Given the description of an element on the screen output the (x, y) to click on. 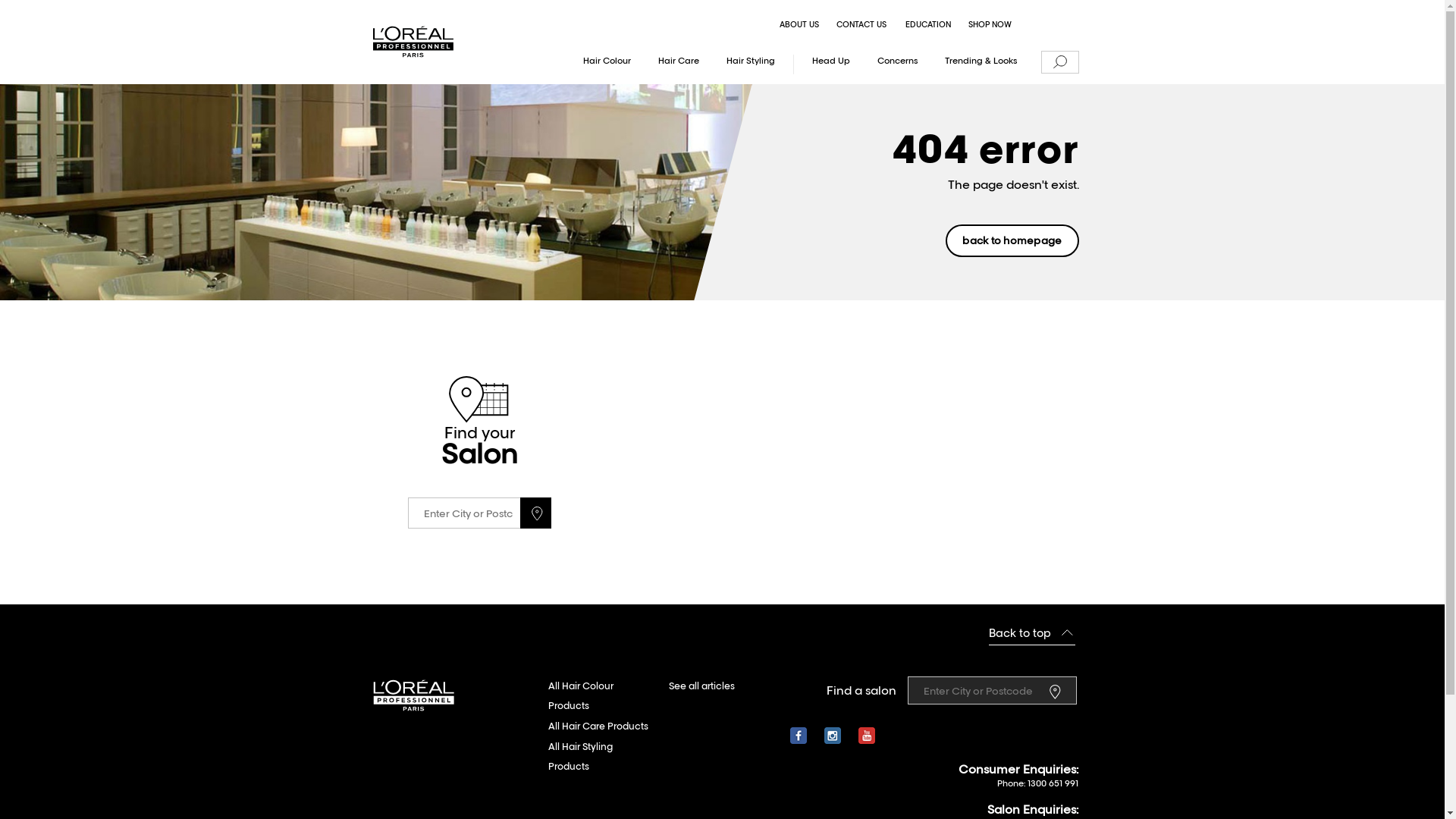
Head Up Element type: text (831, 63)
Hair Care Element type: text (679, 63)
Trending & Looks Element type: text (980, 63)
back to homepage Element type: text (1011, 240)
All Hair Styling Products Element type: text (600, 757)
Find a salon Element type: text (1057, 690)
SHOP NOW Element type: text (989, 25)
Back to top Element type: text (1031, 633)
Search Element type: text (1059, 62)
All Hair Colour Products Element type: text (600, 696)
All Hair Care Products Element type: text (597, 726)
See all articles Element type: text (701, 686)
CONTACT US Element type: text (861, 25)
ABOUT US Element type: text (798, 25)
EDUCATION Element type: text (927, 25)
Hair Colour Element type: text (607, 63)
Hair Styling Element type: text (750, 63)
Concerns Element type: text (897, 63)
